Given the description of an element on the screen output the (x, y) to click on. 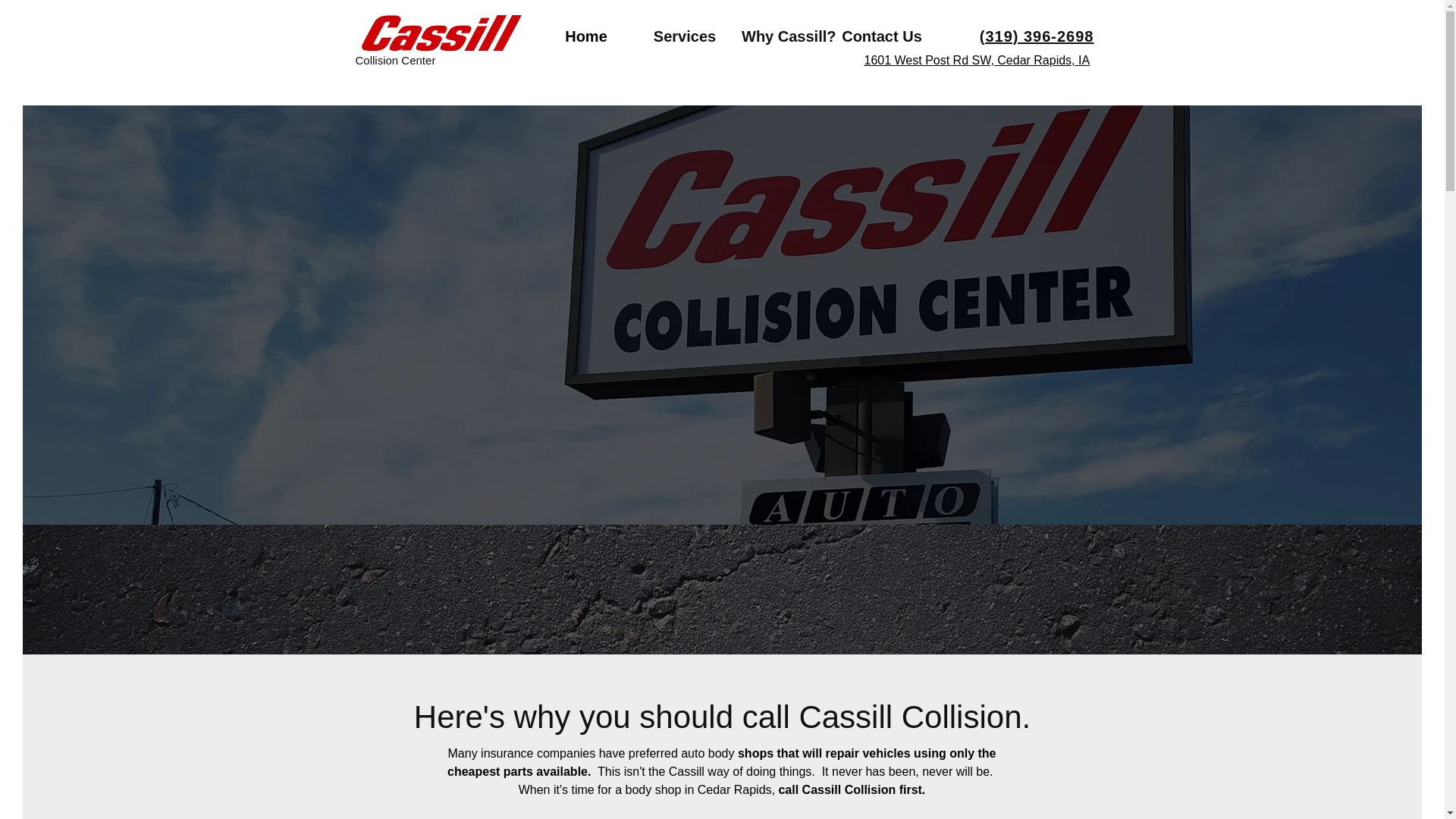
Why Cassill? (782, 36)
Collision Center (395, 60)
1601 West Post Rd SW, Cedar Rapids, IA (977, 60)
Services (683, 36)
Contact Us (881, 36)
Home (585, 36)
